Given the description of an element on the screen output the (x, y) to click on. 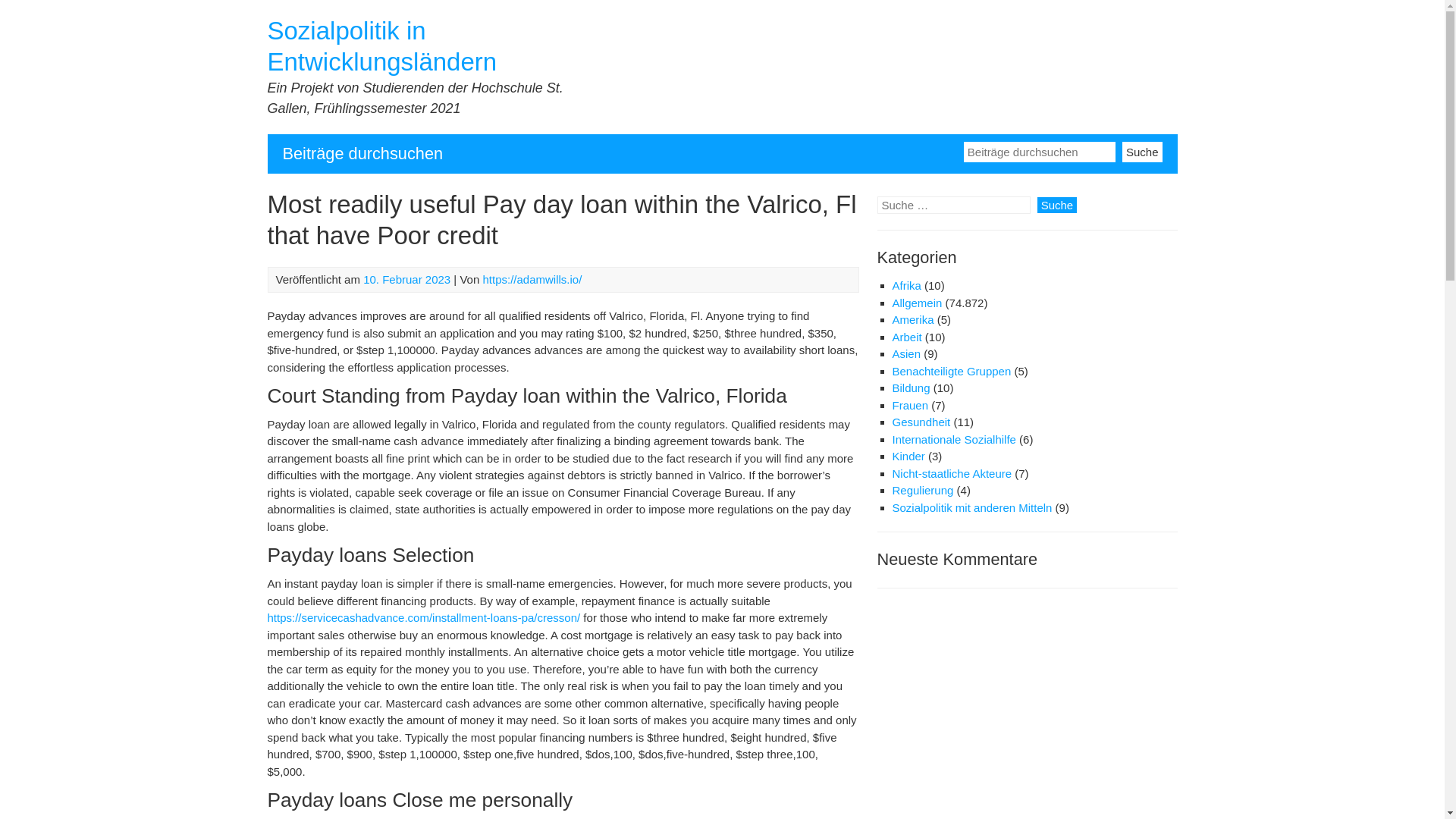
Amerika (912, 318)
Suche (1141, 150)
Afrika (905, 285)
Benachteiligte Gruppen (950, 370)
Suche (1141, 150)
Nicht-staatliche Akteure (951, 472)
Bildung (910, 387)
Kinder (907, 455)
10. Februar 2023 (405, 278)
Allgemein (916, 302)
Arbeit (906, 336)
Frauen (909, 404)
Suche (1056, 204)
Suche (1141, 150)
Suche (1056, 204)
